Given the description of an element on the screen output the (x, y) to click on. 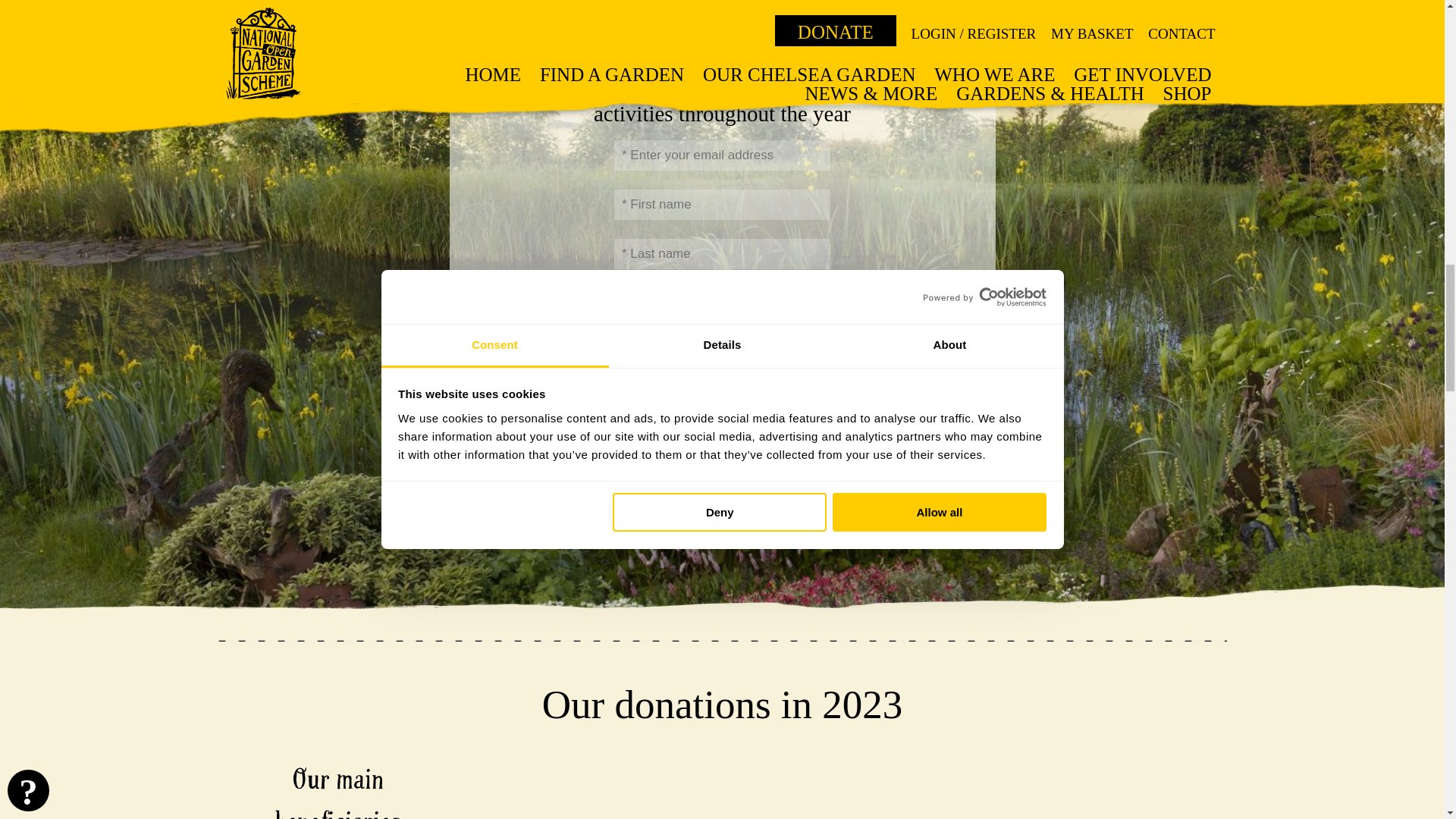
Submit (721, 335)
